Given the description of an element on the screen output the (x, y) to click on. 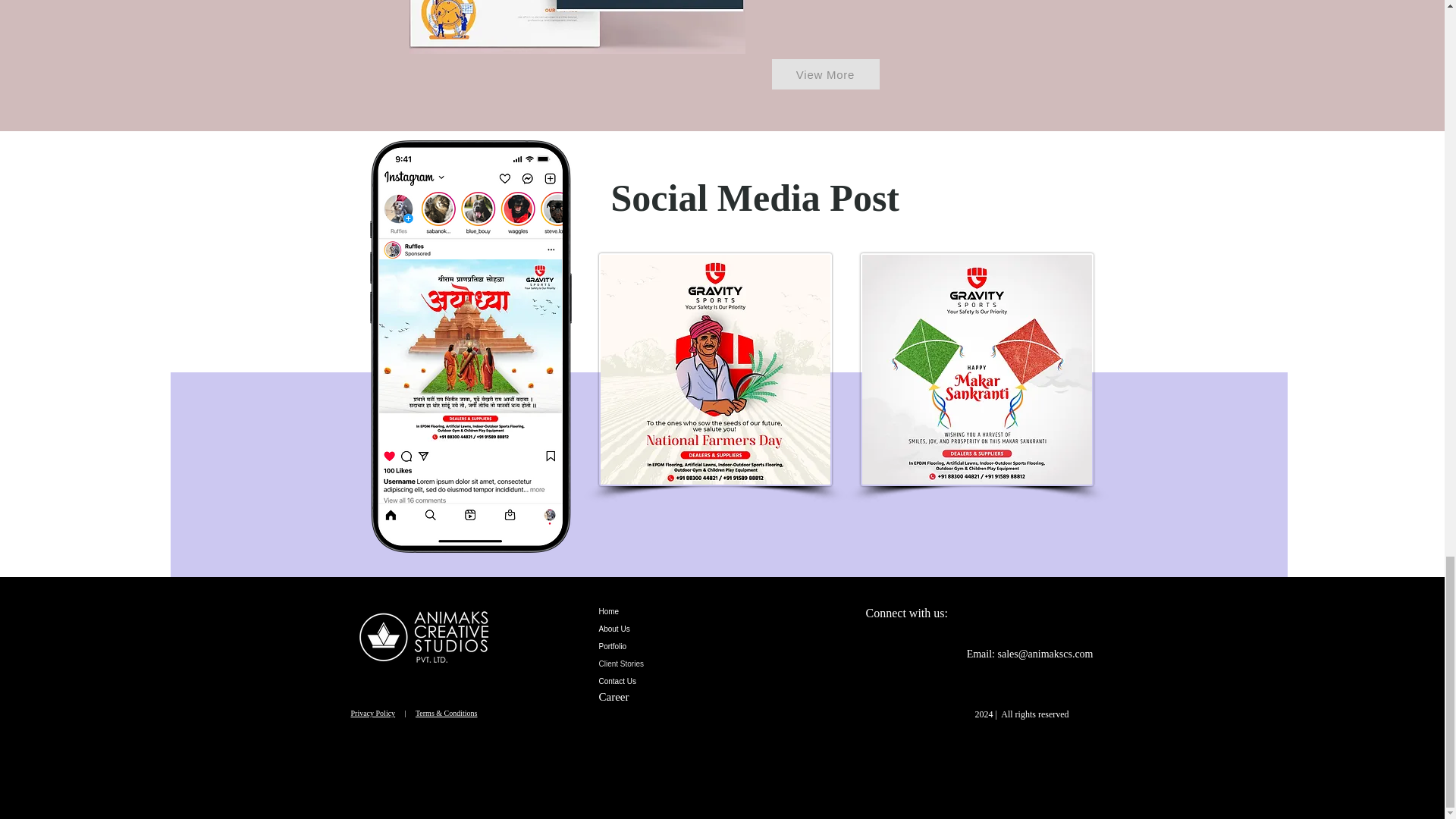
Portfolio (663, 646)
Client Stories (663, 663)
Contact Us (663, 681)
Home (663, 610)
View More (825, 73)
About Us (663, 628)
